Given the description of an element on the screen output the (x, y) to click on. 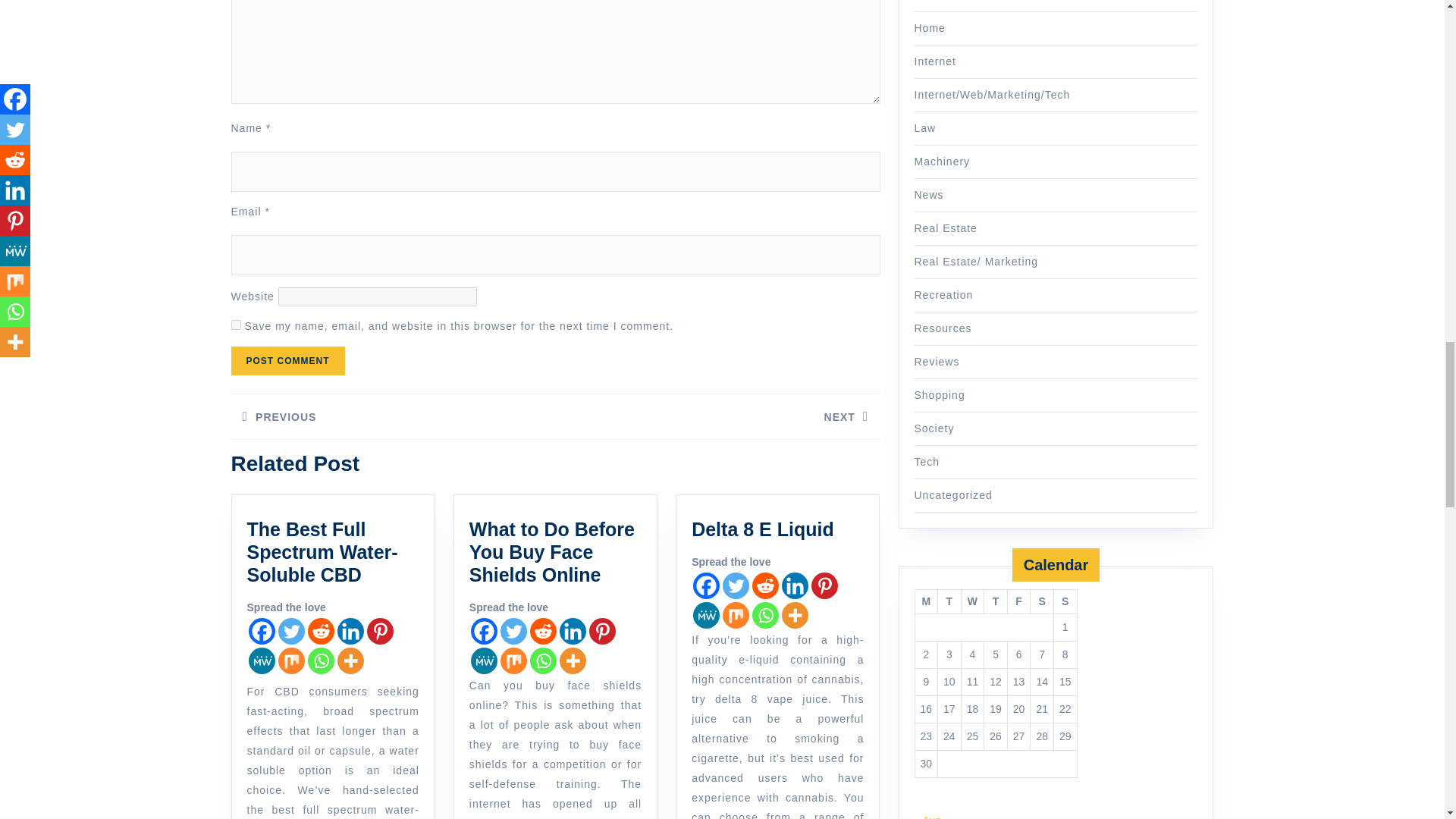
Post Comment (286, 360)
Post Comment (286, 360)
yes (235, 325)
